Given the description of an element on the screen output the (x, y) to click on. 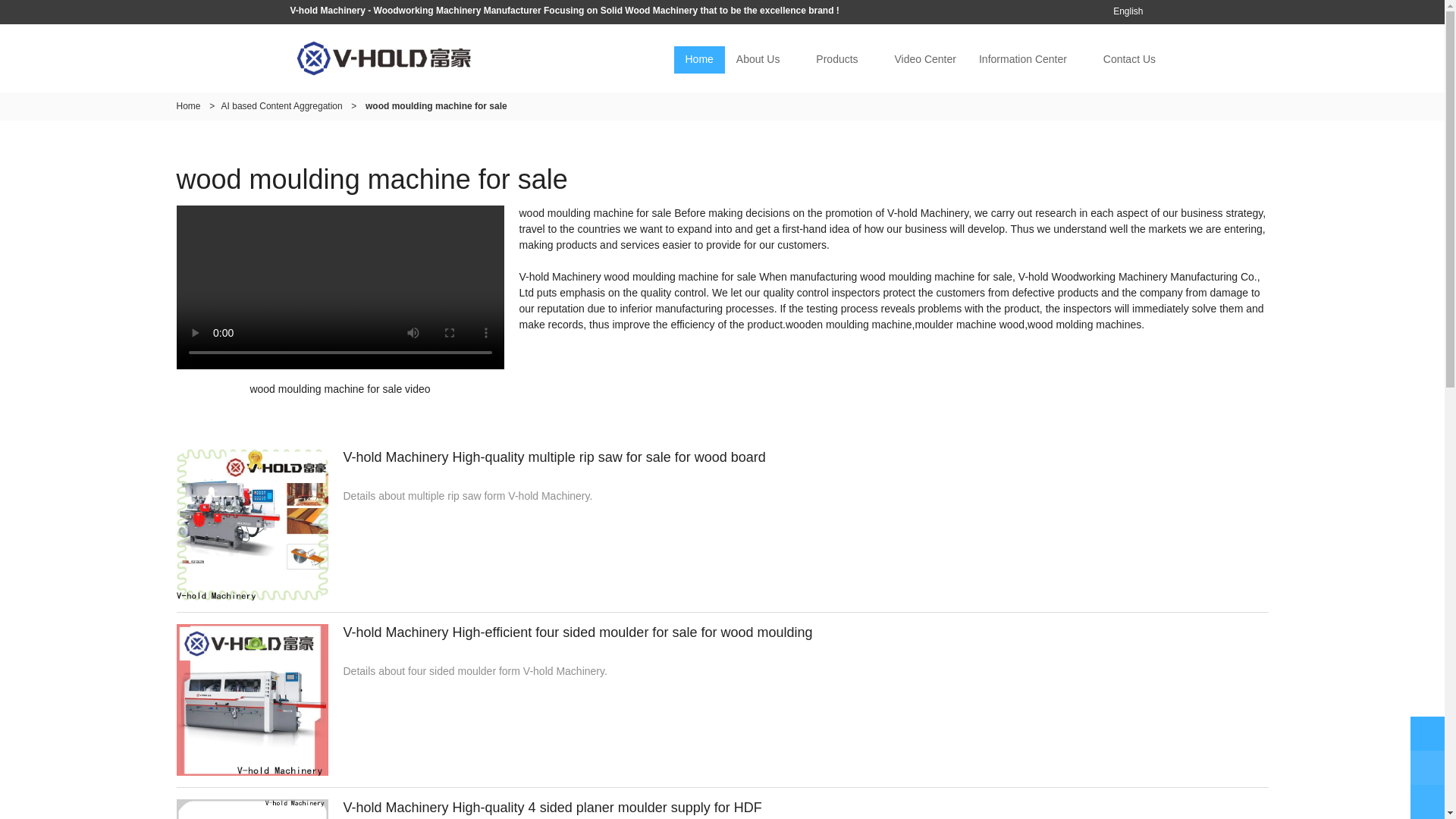
Home (188, 105)
AI based Content Aggregation (281, 105)
About Us (758, 59)
Home (697, 59)
Information Center (1023, 59)
Products (837, 59)
Video Center (924, 59)
Contact Us (1129, 59)
